Given the description of an element on the screen output the (x, y) to click on. 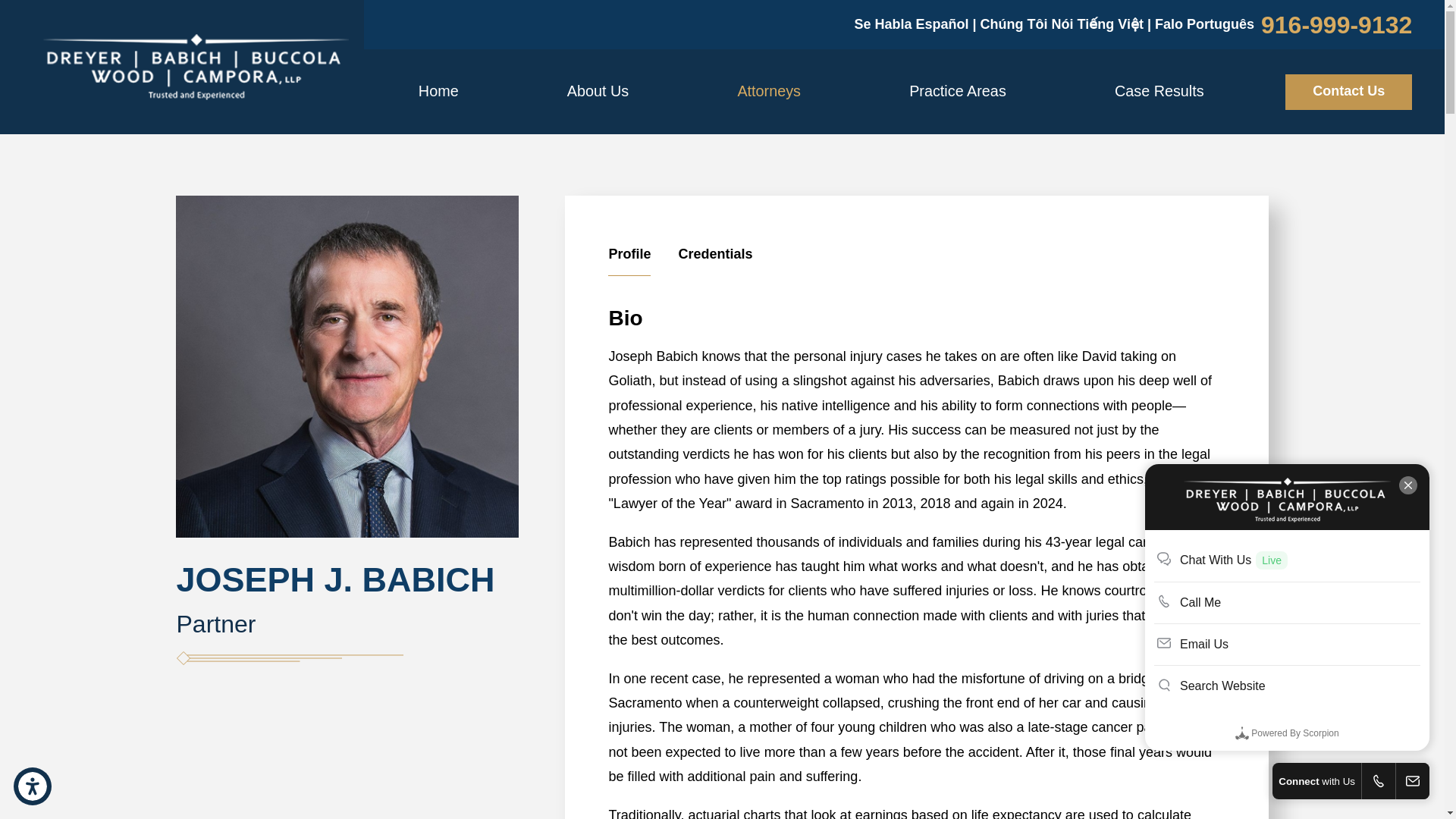
Joseph Babich Photo (347, 366)
Open the accessibility options menu (31, 786)
Dreyer Babich Buccola Wood Campora, LLP (916, 258)
Attorneys (196, 66)
About Us (769, 91)
Home (597, 91)
916-999-9132 (438, 91)
